Given the description of an element on the screen output the (x, y) to click on. 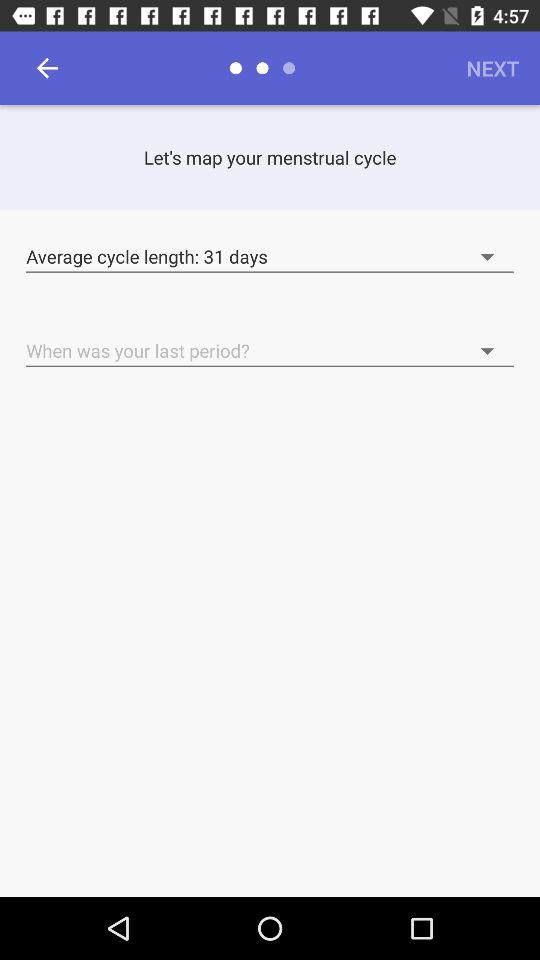
click on arrow symabol which is top left side (47, 67)
click on the downward arrow which is beside when was your last period (434, 340)
select the text field with a text when was your last period with dropdown button on a page (269, 351)
